Given the description of an element on the screen output the (x, y) to click on. 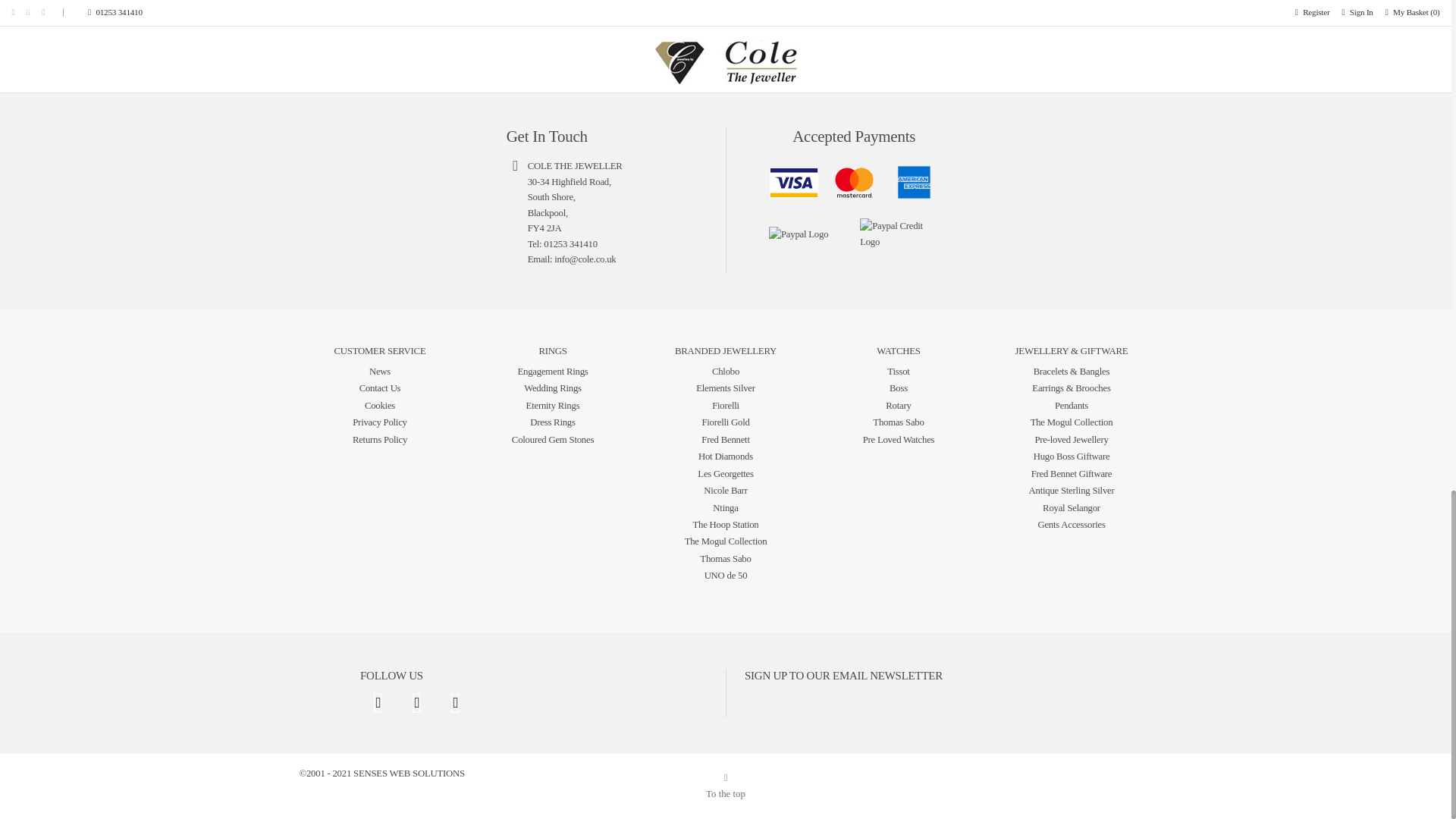
Engagement Rings (552, 371)
News (379, 371)
Fred Bennett (725, 439)
Elements Silver (725, 388)
Dress Rings (552, 421)
Eternity Rings (552, 405)
Cookies (379, 405)
Ntinga (725, 507)
Chlobo (725, 371)
Contact Us (380, 388)
